Given the description of an element on the screen output the (x, y) to click on. 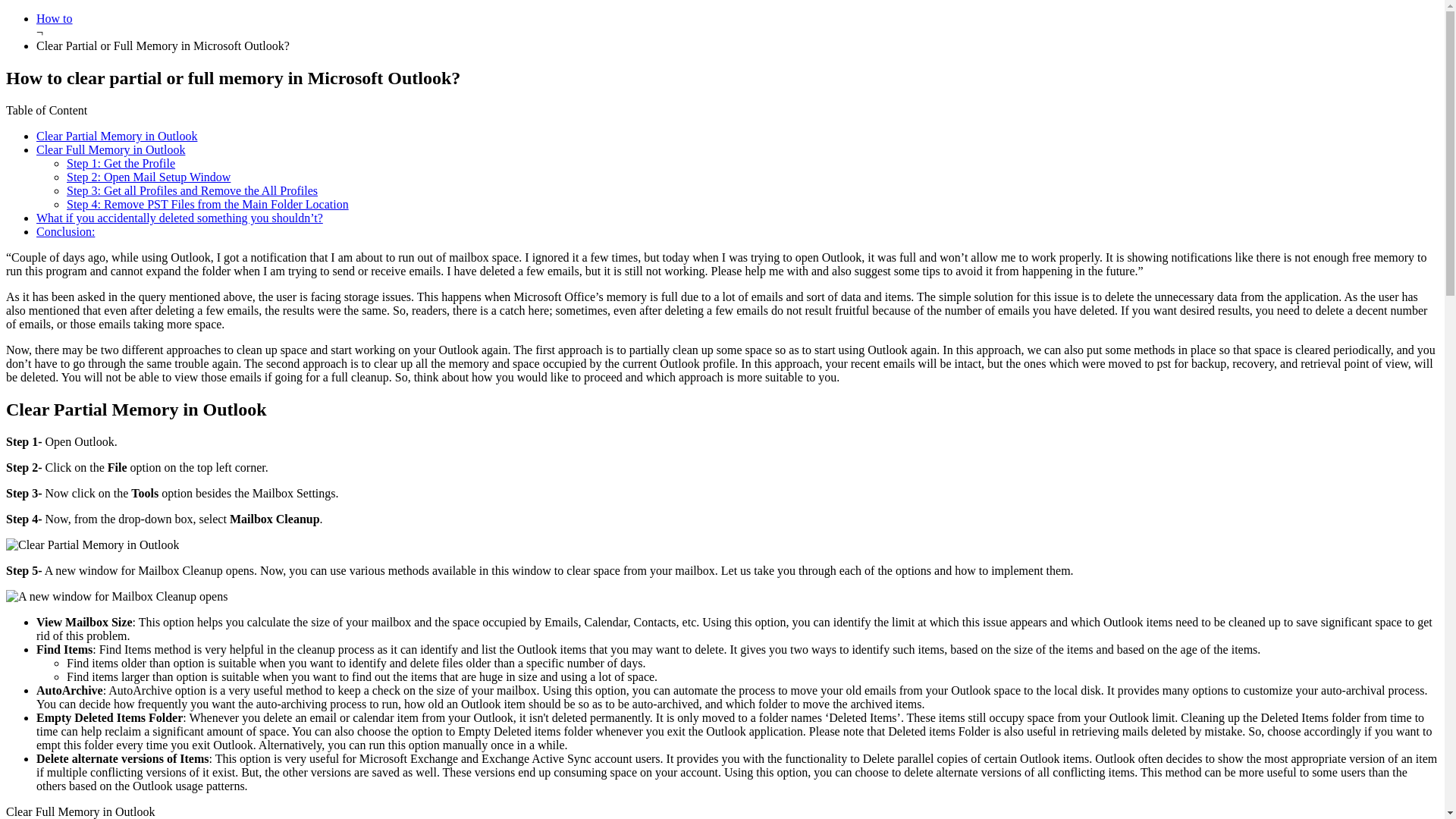
Step 3: Get all Profiles and Remove the All Profiles (191, 190)
Step 1: Get the Profile (120, 163)
Conclusion: (65, 231)
Clear Full Memory in Outlook (110, 149)
Step 4: Remove PST Files from the Main Folder Location (207, 204)
Step 2: Open Mail Setup Window (148, 176)
Clear Partial Memory in Outlook (116, 135)
How to (54, 18)
